Given the description of an element on the screen output the (x, y) to click on. 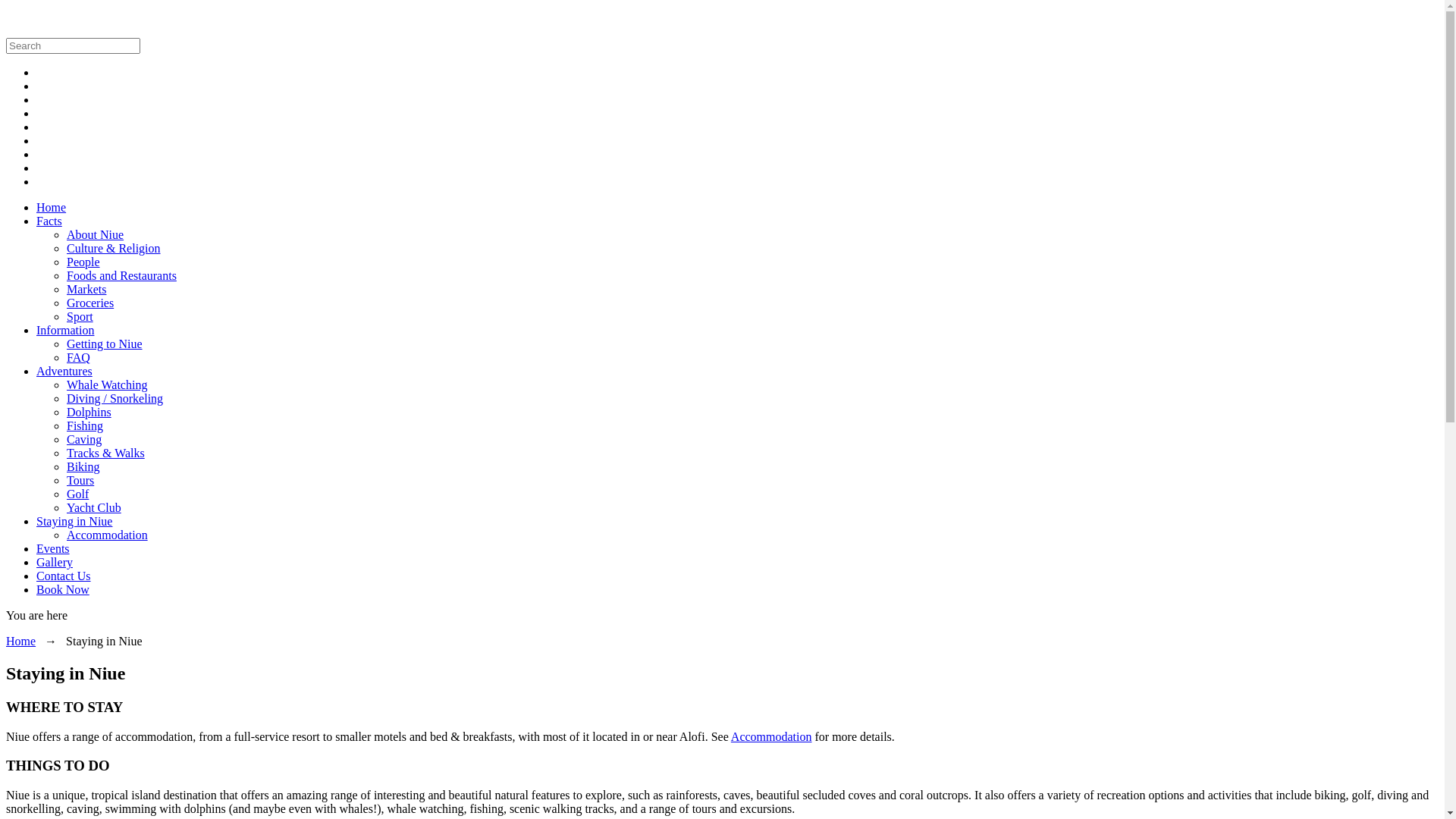
Markets Element type: text (86, 288)
Fishing Element type: text (84, 425)
Google Plus Element type: hover (36, 99)
Twitter Element type: hover (36, 71)
Groceries Element type: text (89, 302)
Yacht Club Element type: text (93, 507)
Facts Element type: text (49, 220)
About Niue Element type: text (94, 234)
Getting to Niue Element type: text (104, 343)
Adventures Element type: text (64, 370)
Biking Element type: text (83, 466)
Tours Element type: text (80, 479)
Contact Us Element type: text (63, 575)
Foods and Restaurants Element type: text (121, 275)
Caving Element type: text (83, 439)
FAQ Element type: text (78, 357)
Staying in Niue Element type: text (74, 520)
Events Element type: text (52, 548)
Diving / Snorkeling Element type: text (114, 398)
Sport Element type: text (79, 316)
Book Now Element type: text (62, 589)
Stumbleupon Element type: hover (36, 167)
Home Element type: text (20, 640)
Information Element type: text (65, 329)
Home Element type: text (50, 206)
Facebook Element type: hover (36, 85)
Whale Watching Element type: text (106, 384)
Culture & Religion Element type: text (113, 247)
People Element type: text (83, 261)
Golf Element type: text (77, 493)
Accommodation Element type: text (106, 534)
Dolphins Element type: text (88, 411)
Accommodation Element type: text (771, 736)
Tracks & Walks Element type: text (105, 452)
YouTube Element type: hover (36, 181)
LinkedIn Element type: hover (36, 112)
Tumblr Element type: hover (36, 126)
Gallery Element type: text (54, 561)
Deviantart Element type: hover (36, 153)
Delicious Element type: hover (36, 140)
